Given the description of an element on the screen output the (x, y) to click on. 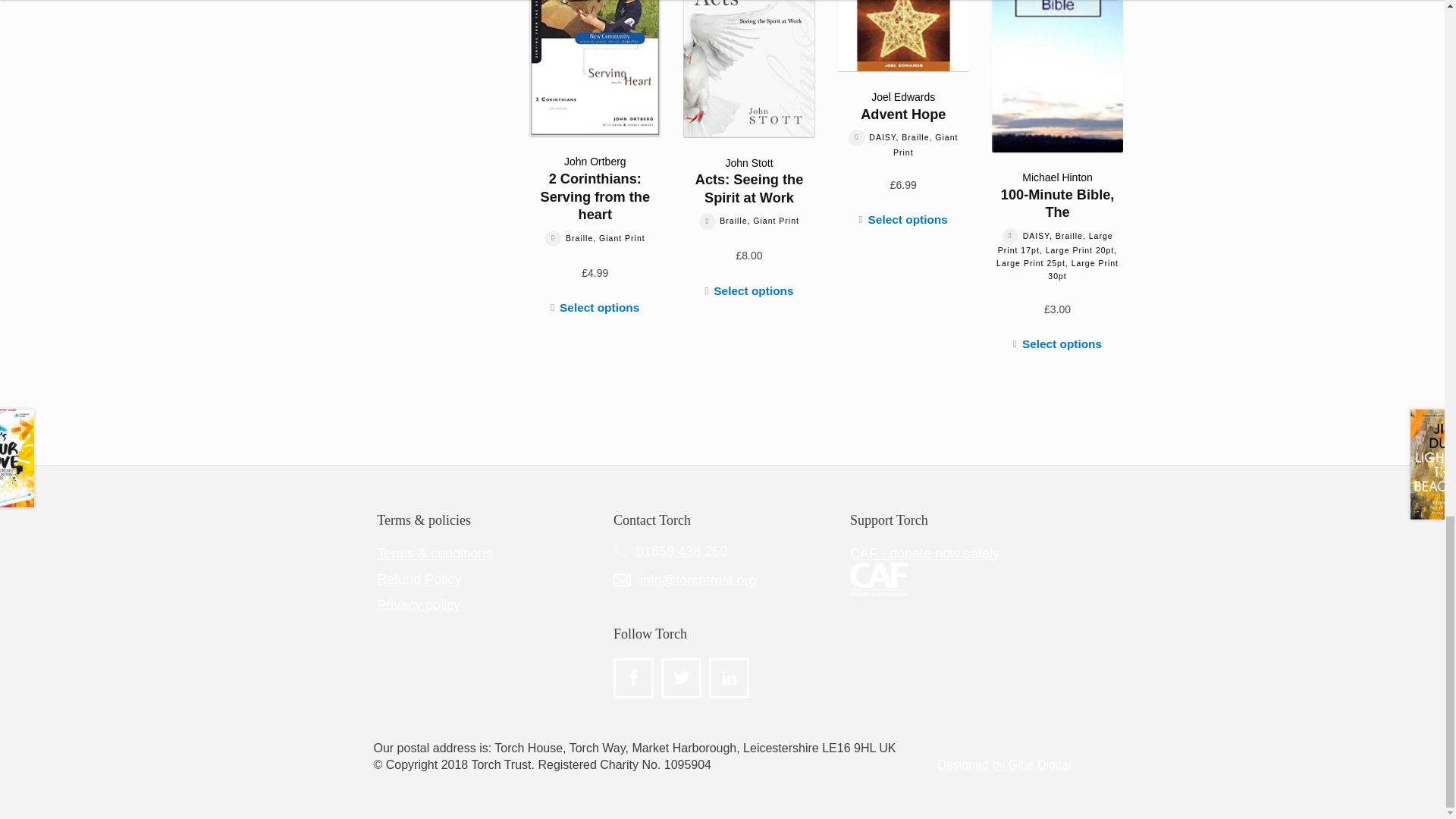
Select options (594, 307)
